Given the description of an element on the screen output the (x, y) to click on. 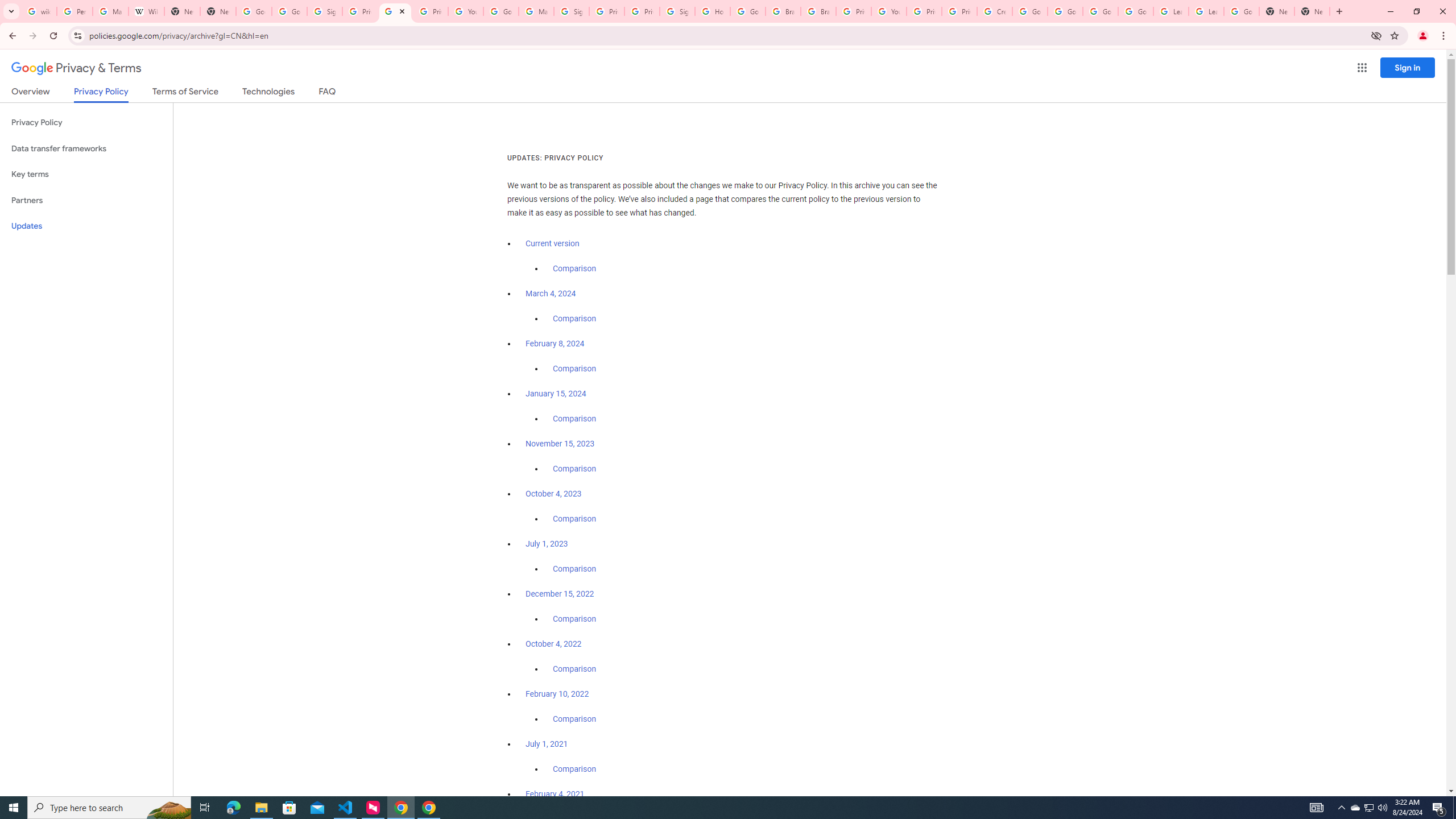
Sign in - Google Accounts (677, 11)
February 10, 2022 (557, 693)
July 1, 2023 (546, 543)
Manage your Location History - Google Search Help (110, 11)
YouTube (888, 11)
Brand Resource Center (817, 11)
New Tab (1276, 11)
